Given the description of an element on the screen output the (x, y) to click on. 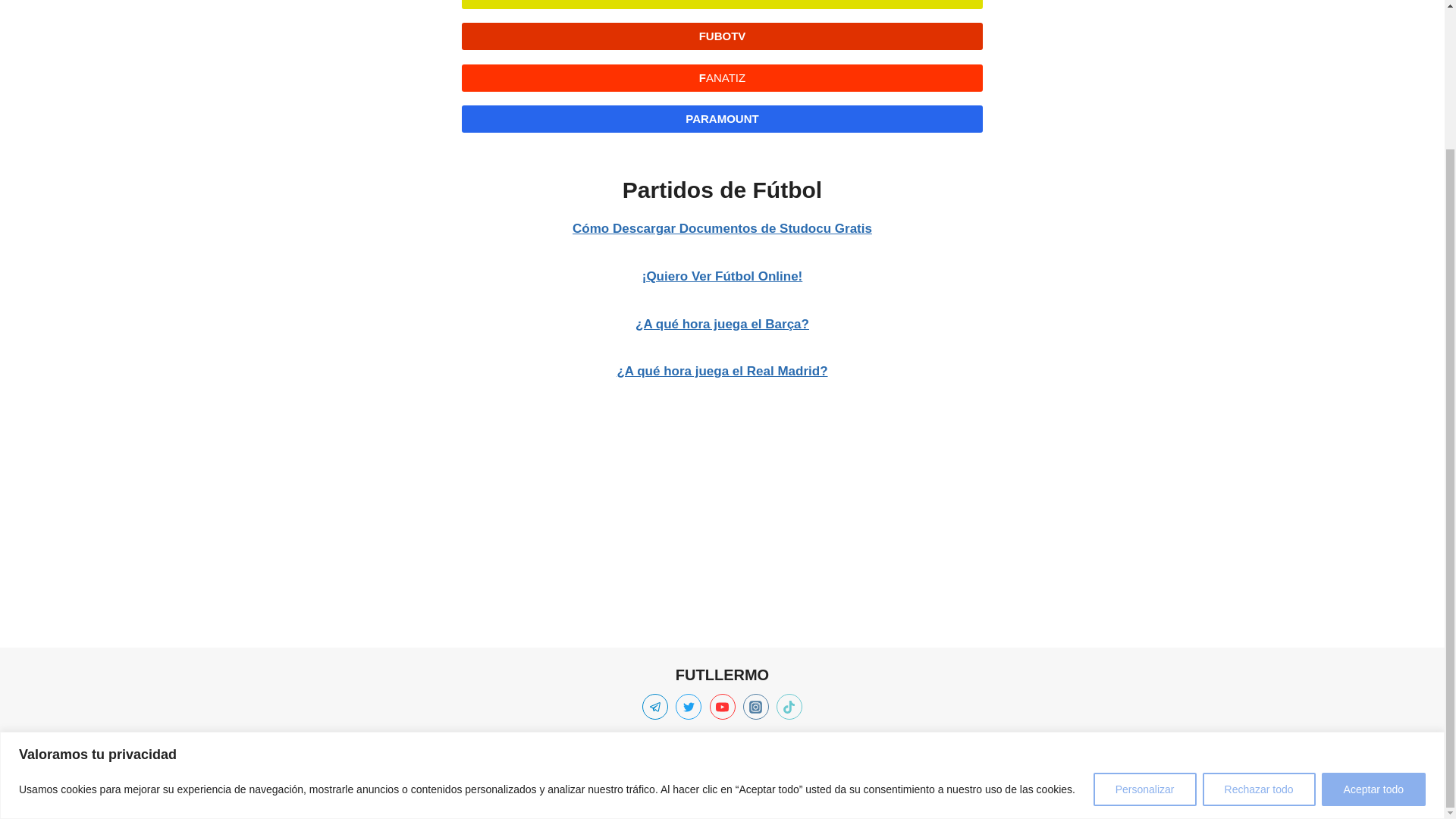
DAZN (721, 4)
EN (772, 755)
TERMS OF USE (577, 755)
FANATIZ (721, 77)
PARAMOUNT (721, 118)
CONTACTAR (874, 755)
Aceptar todo (1373, 616)
Rechazar todo (1259, 616)
FUBOTV (721, 35)
ES (808, 755)
